Given the description of an element on the screen output the (x, y) to click on. 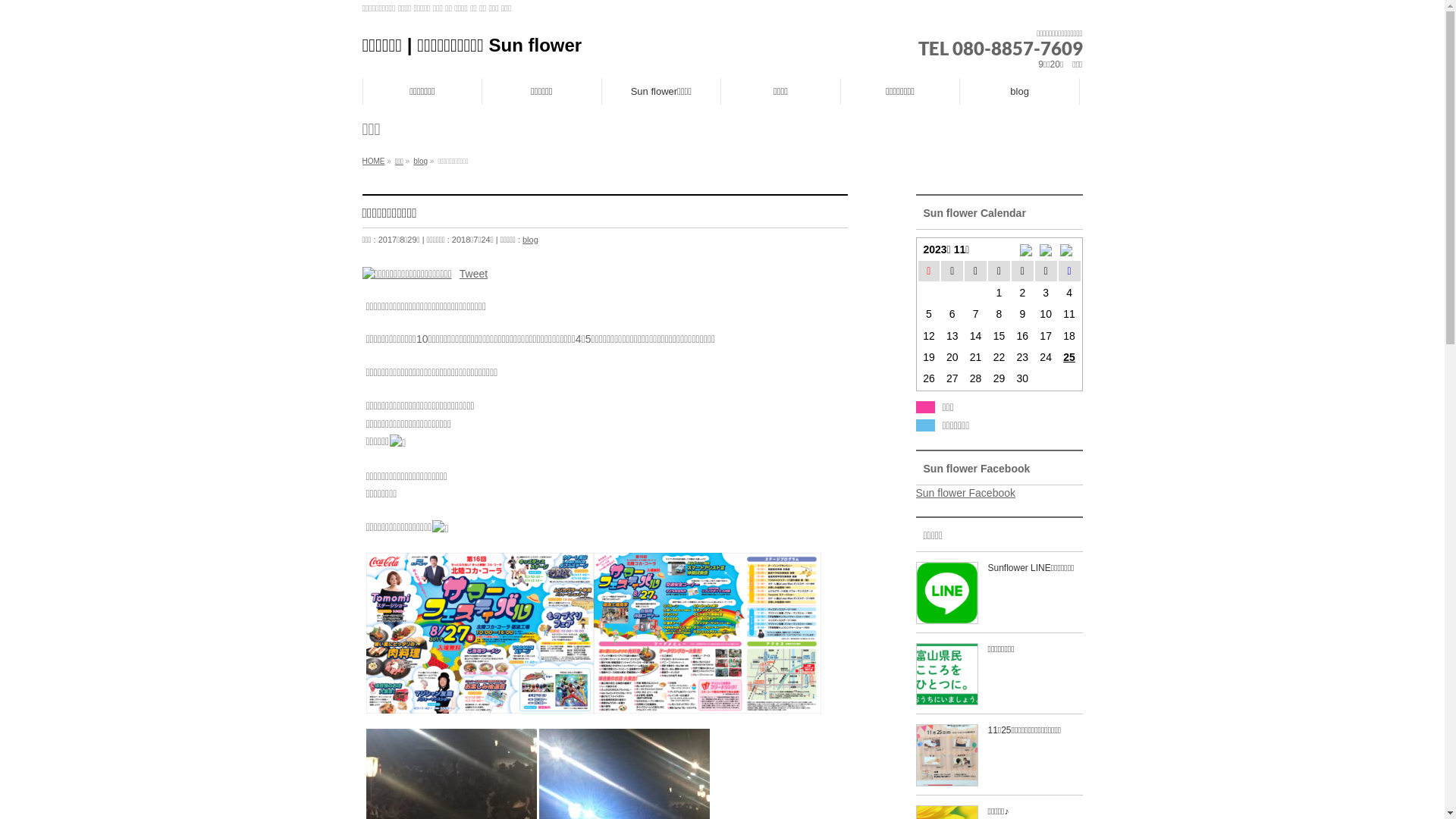
blog Element type: text (530, 239)
Sun flower Facebook Element type: text (976, 468)
Tweet Element type: text (473, 272)
Sun flower Facebook Element type: text (966, 492)
blog Element type: text (1019, 90)
HOME Element type: text (373, 160)
blog Element type: text (420, 160)
